Given the description of an element on the screen output the (x, y) to click on. 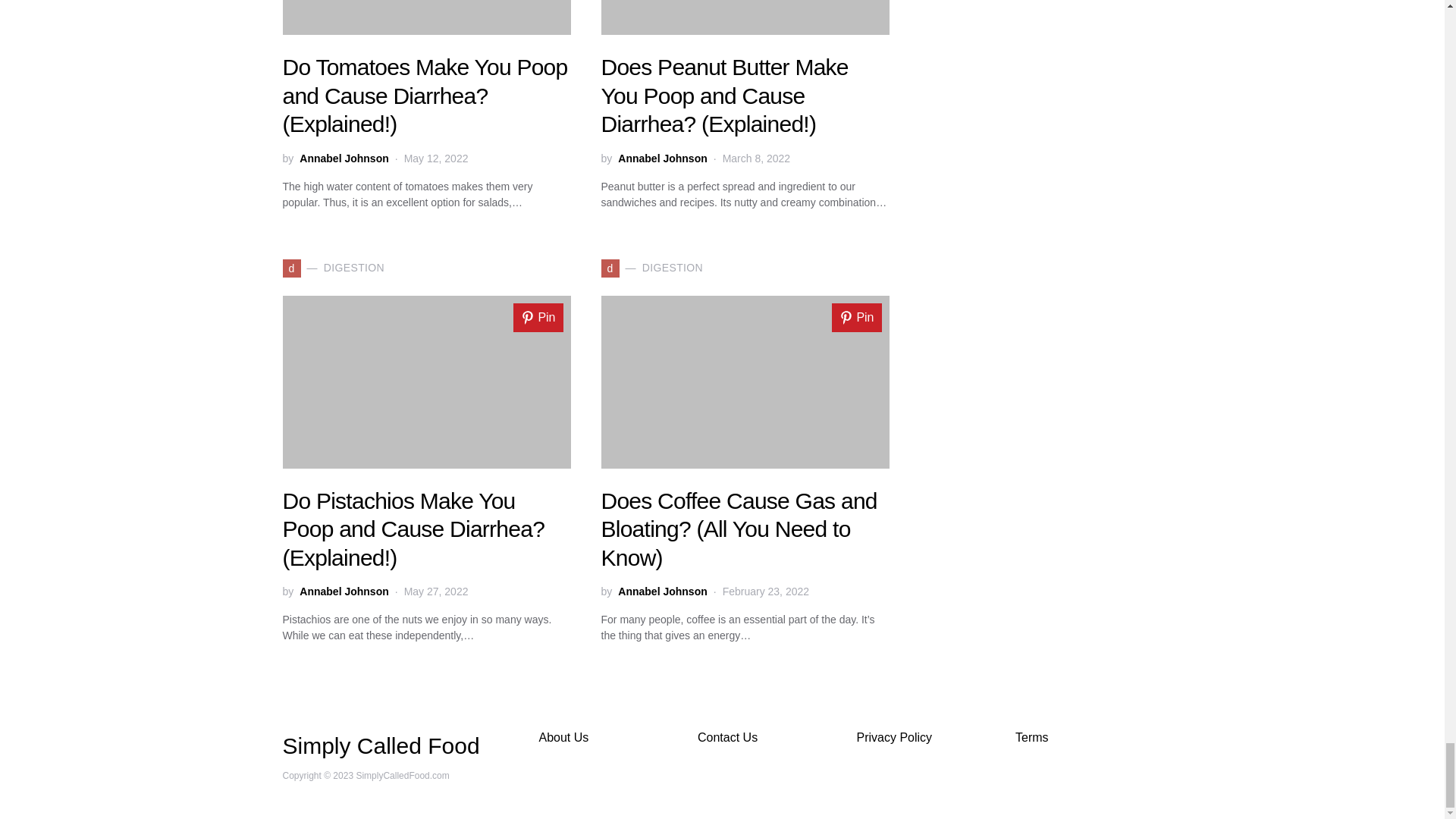
View all posts by Annabel Johnson (343, 591)
View all posts by Annabel Johnson (661, 591)
View all posts by Annabel Johnson (661, 158)
View all posts by Annabel Johnson (343, 158)
